Given the description of an element on the screen output the (x, y) to click on. 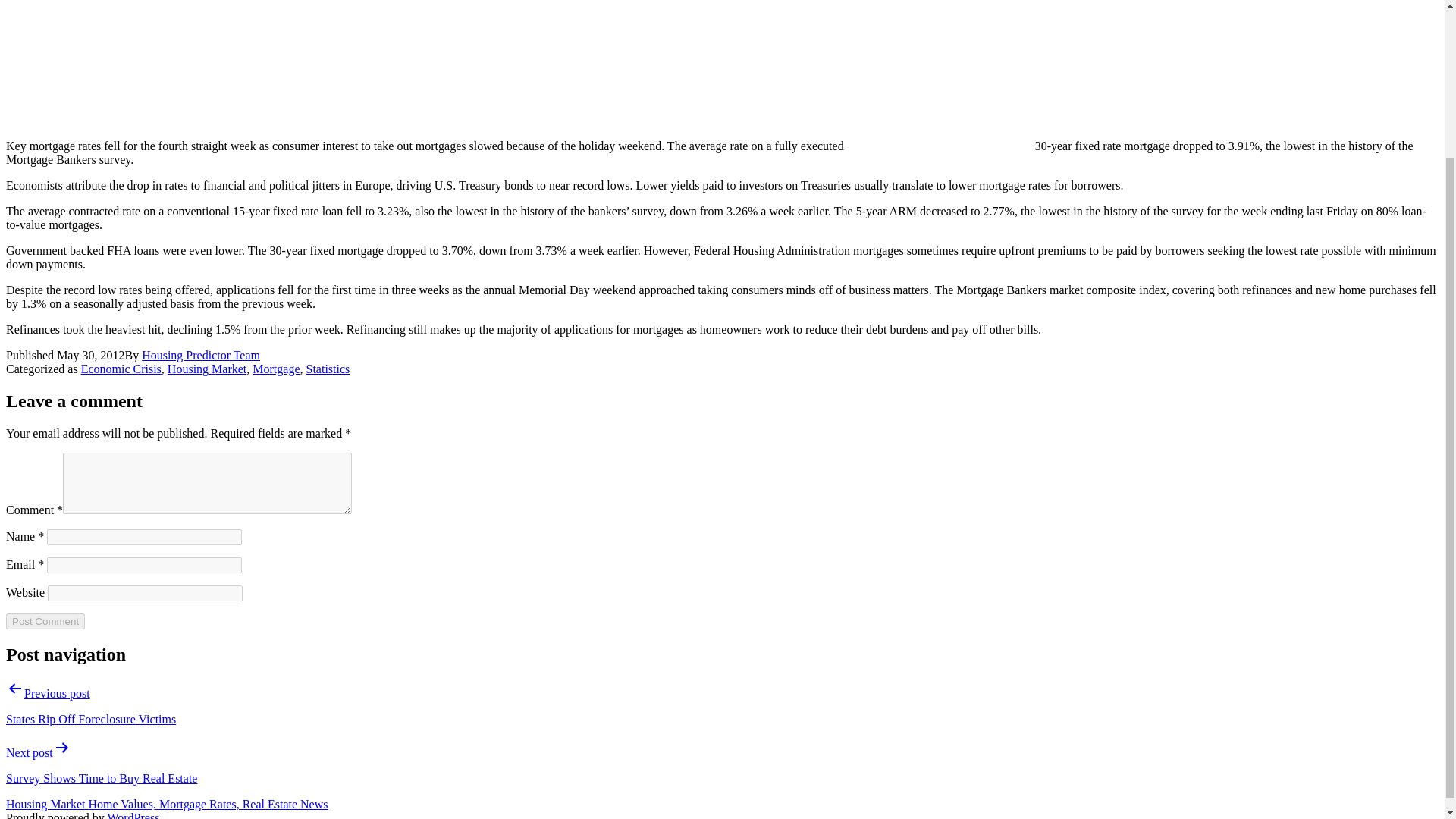
Housing Market (206, 368)
Housing Predictor Team (200, 354)
Housing Market Home Values, Mortgage Rates, Real Estate News (167, 803)
Post Comment (44, 621)
Statistics (327, 368)
Post Comment (44, 621)
Economic Crisis (121, 368)
Mortgage (275, 368)
